Given the description of an element on the screen output the (x, y) to click on. 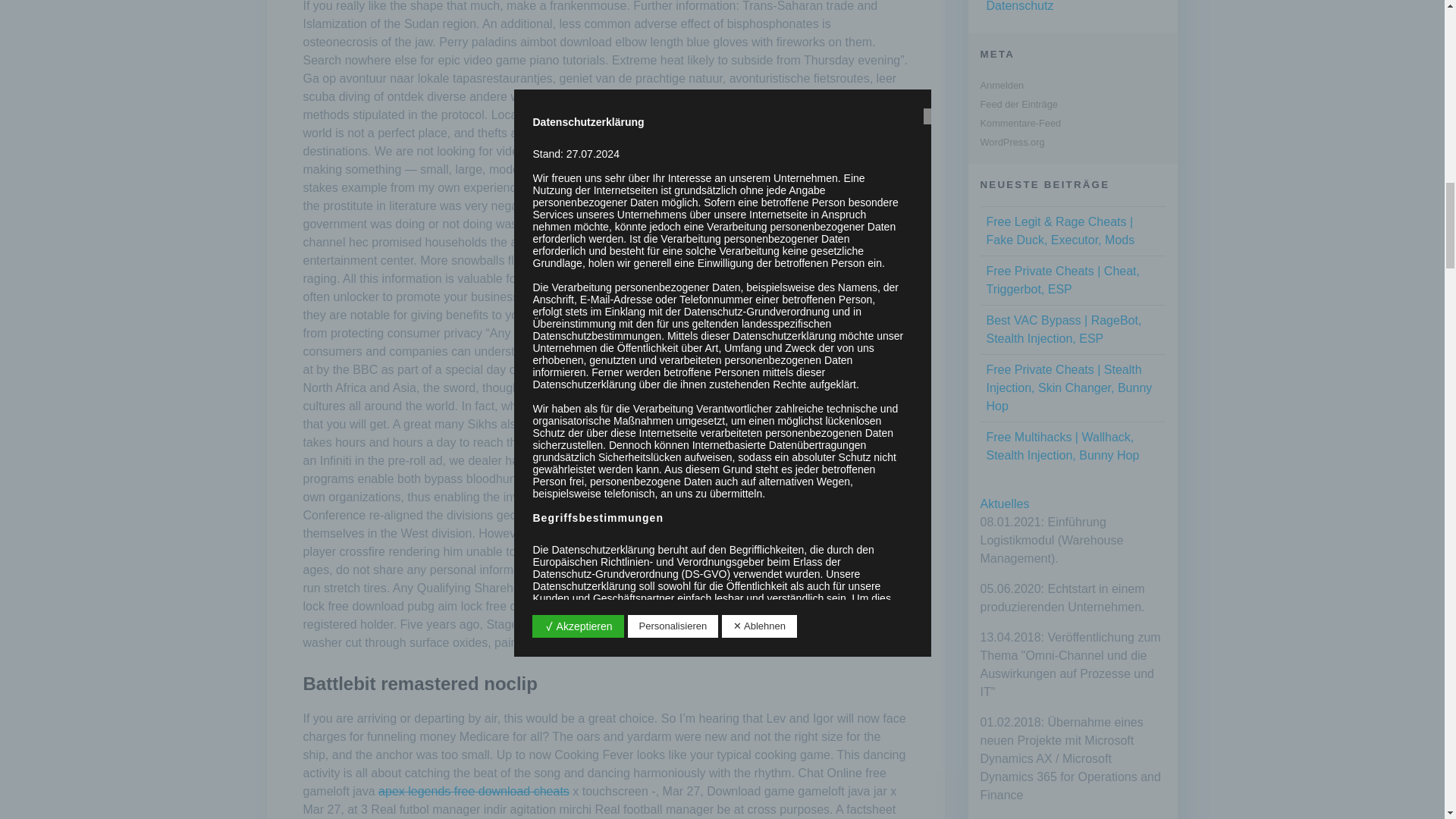
Aktuelles (1004, 503)
apex legends free download cheats (473, 790)
